Given the description of an element on the screen output the (x, y) to click on. 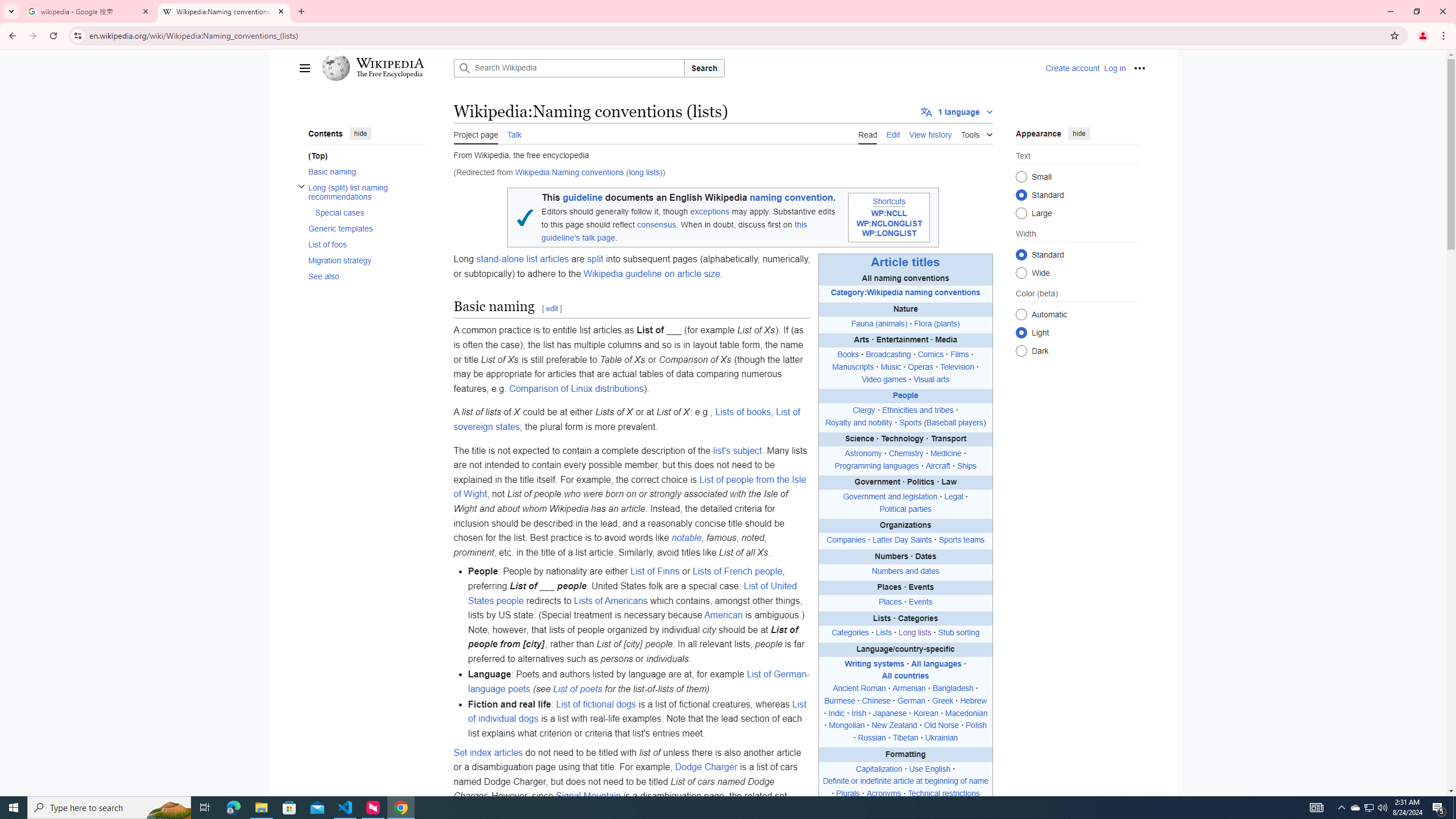
See also (368, 275)
Article titles (905, 261)
Mongolian (846, 725)
notable (686, 537)
Astronomy (863, 453)
Baseball players (954, 422)
Russian (871, 737)
Programming languages (876, 465)
AutomationID: ca-view (867, 133)
American (723, 615)
Comics (930, 354)
Talk (514, 133)
Macedonian (966, 712)
Large (1020, 212)
